Given the description of an element on the screen output the (x, y) to click on. 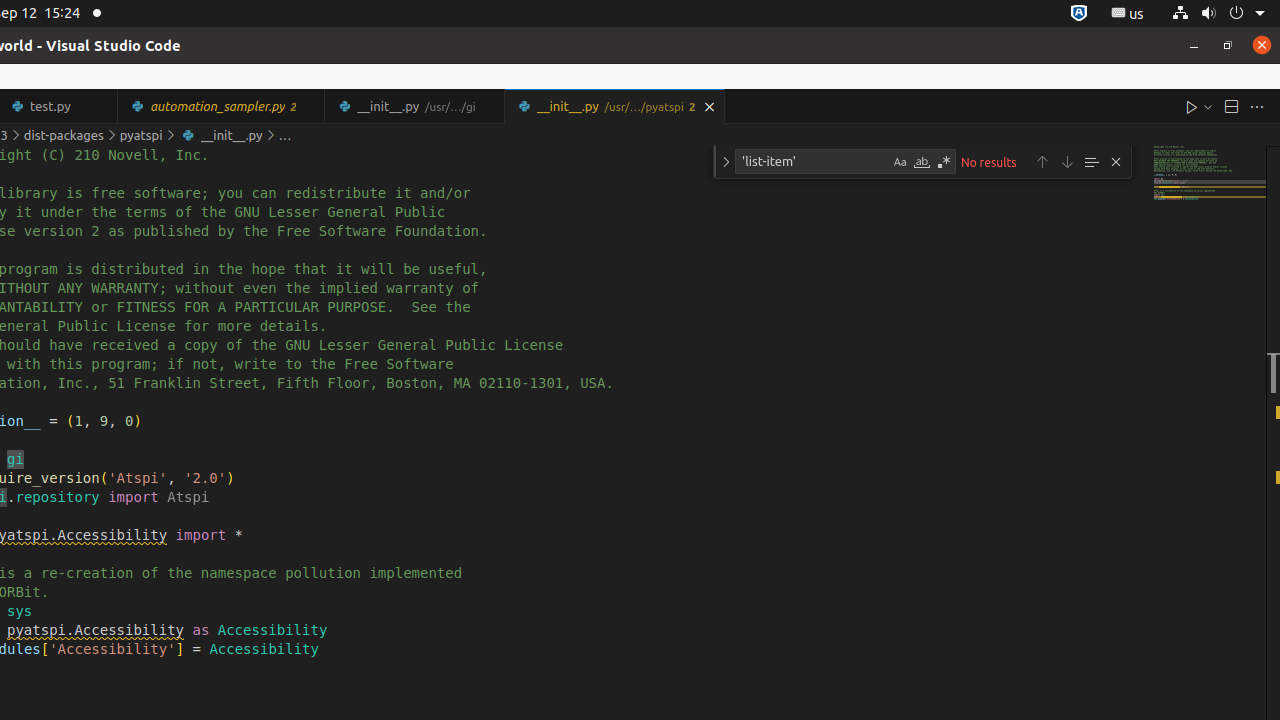
__init__.py Element type: page-tab (614, 106)
Close (Ctrl+W) Element type: push-button (709, 106)
Match Whole Word (Alt+W) Element type: check-box (922, 162)
Match Case (Alt+C) Element type: check-box (900, 162)
More Actions... Element type: push-button (1257, 106)
